Given the description of an element on the screen output the (x, y) to click on. 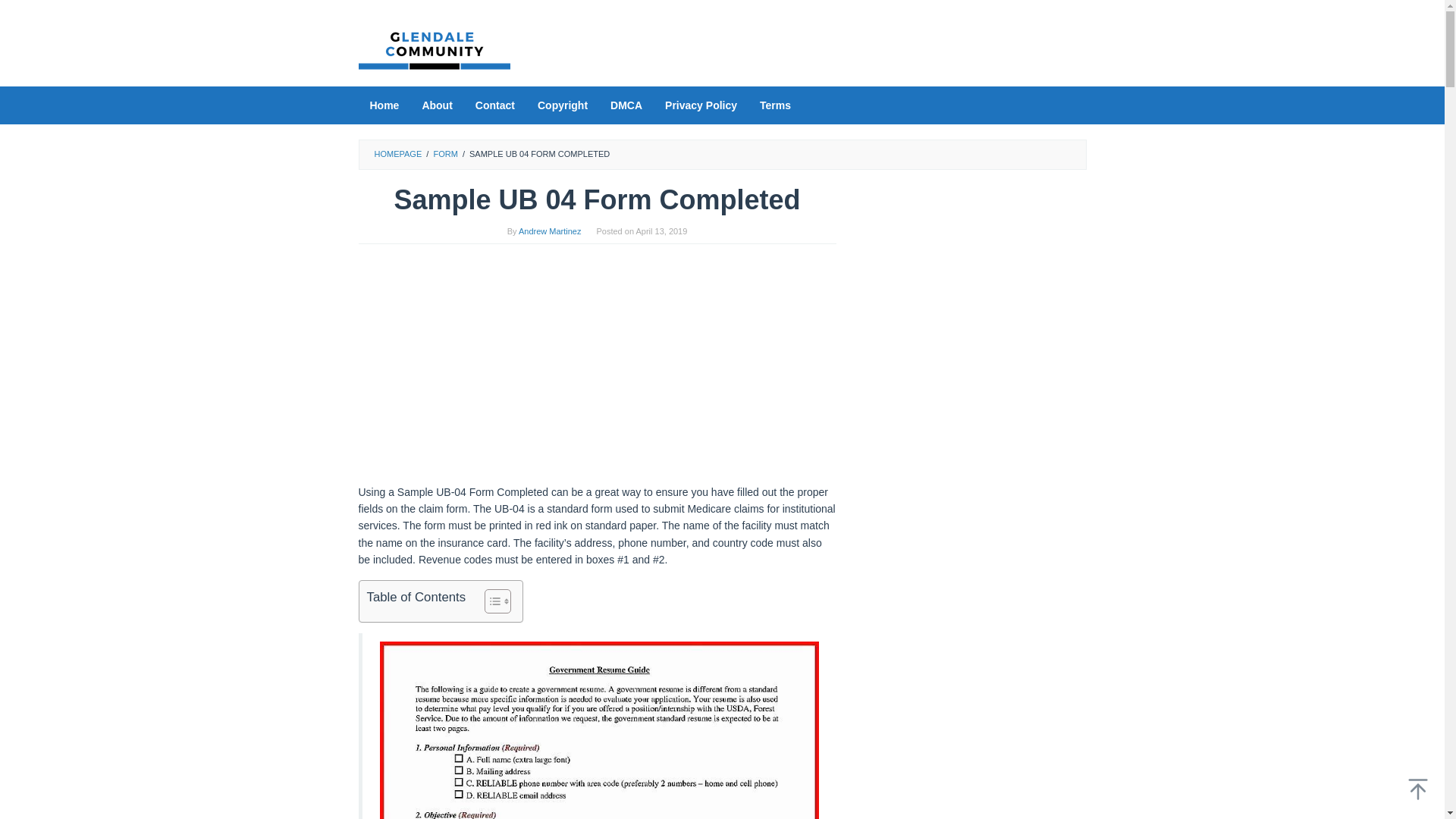
Glendale Community (433, 48)
Permalink to: Andrew Martinez (549, 230)
Copyright (561, 105)
Contact (494, 105)
DMCA (625, 105)
Home (384, 105)
Privacy Policy (700, 105)
Advertisement (596, 371)
Terms (775, 105)
Glendale Community (433, 47)
About (436, 105)
FORM (444, 153)
HOMEPAGE (398, 153)
Andrew Martinez (549, 230)
